Given the description of an element on the screen output the (x, y) to click on. 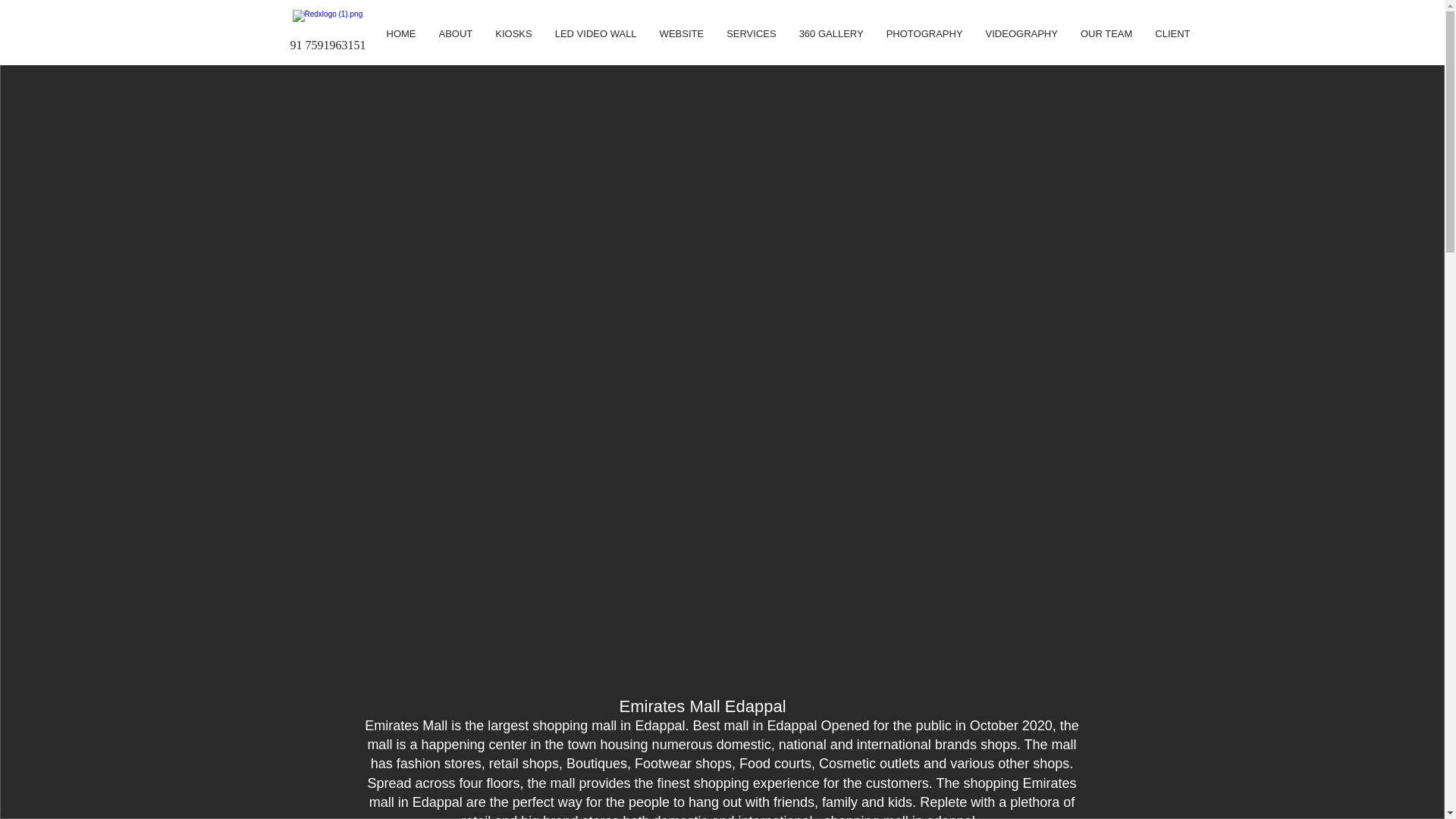
VIDEOGRAPHY (1021, 46)
WEBSITE (681, 46)
PHOTOGRAPHY (924, 46)
LED VIDEO WALL (595, 46)
ABOUT (456, 46)
360 GALLERY (831, 46)
HOME (400, 46)
CLIENTS (1175, 46)
KIOSKS (513, 46)
OUR TEAM (1105, 46)
SERVICES (750, 46)
